Given the description of an element on the screen output the (x, y) to click on. 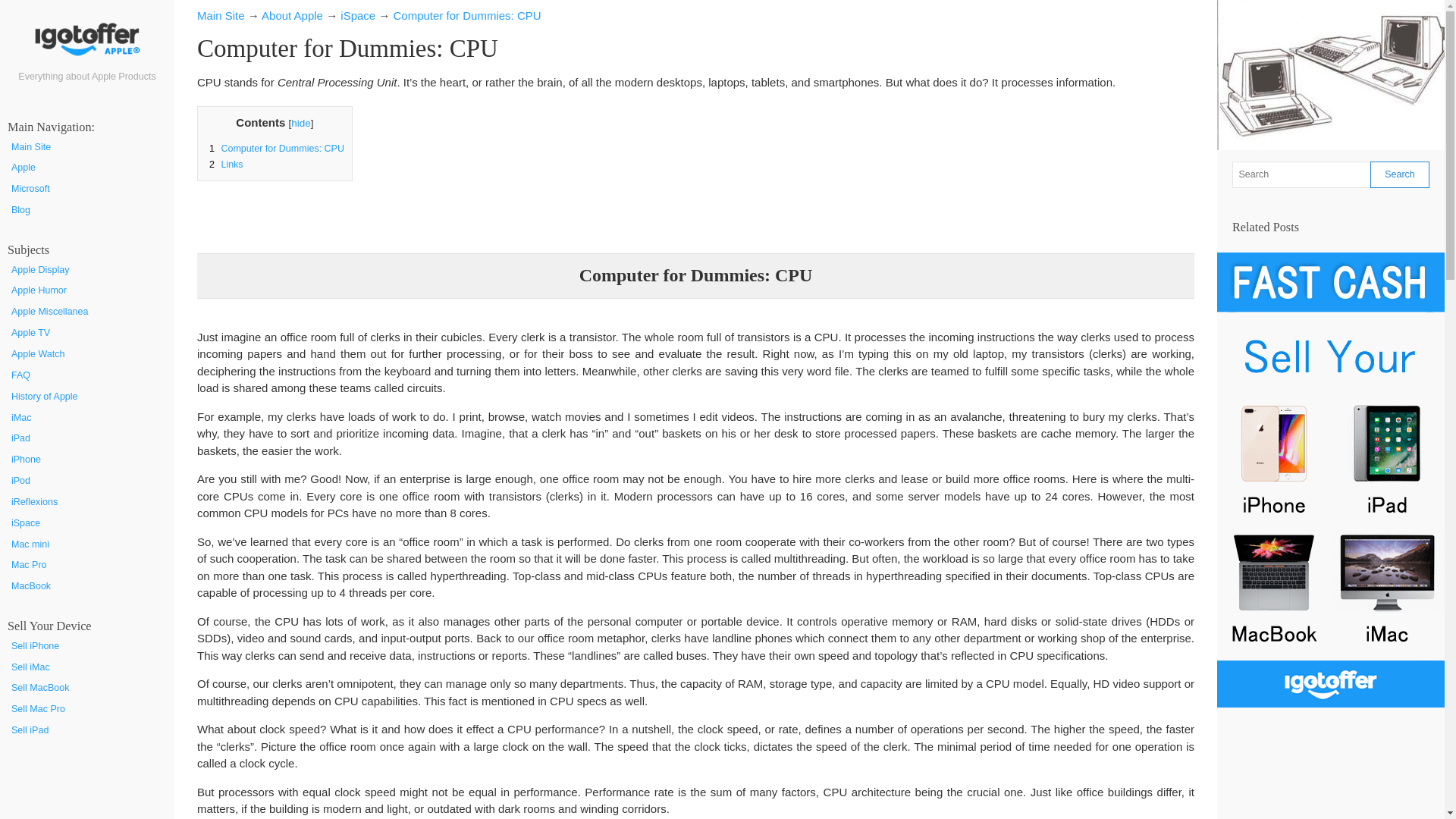
Computer for Dummies: CPU (467, 15)
About Apple (292, 15)
iPad (87, 438)
History of Apple (87, 396)
iPod (87, 481)
Microsoft (87, 189)
Sell MacBook (87, 688)
Search (1399, 174)
2 Links (224, 163)
Main Site (220, 15)
